Given the description of an element on the screen output the (x, y) to click on. 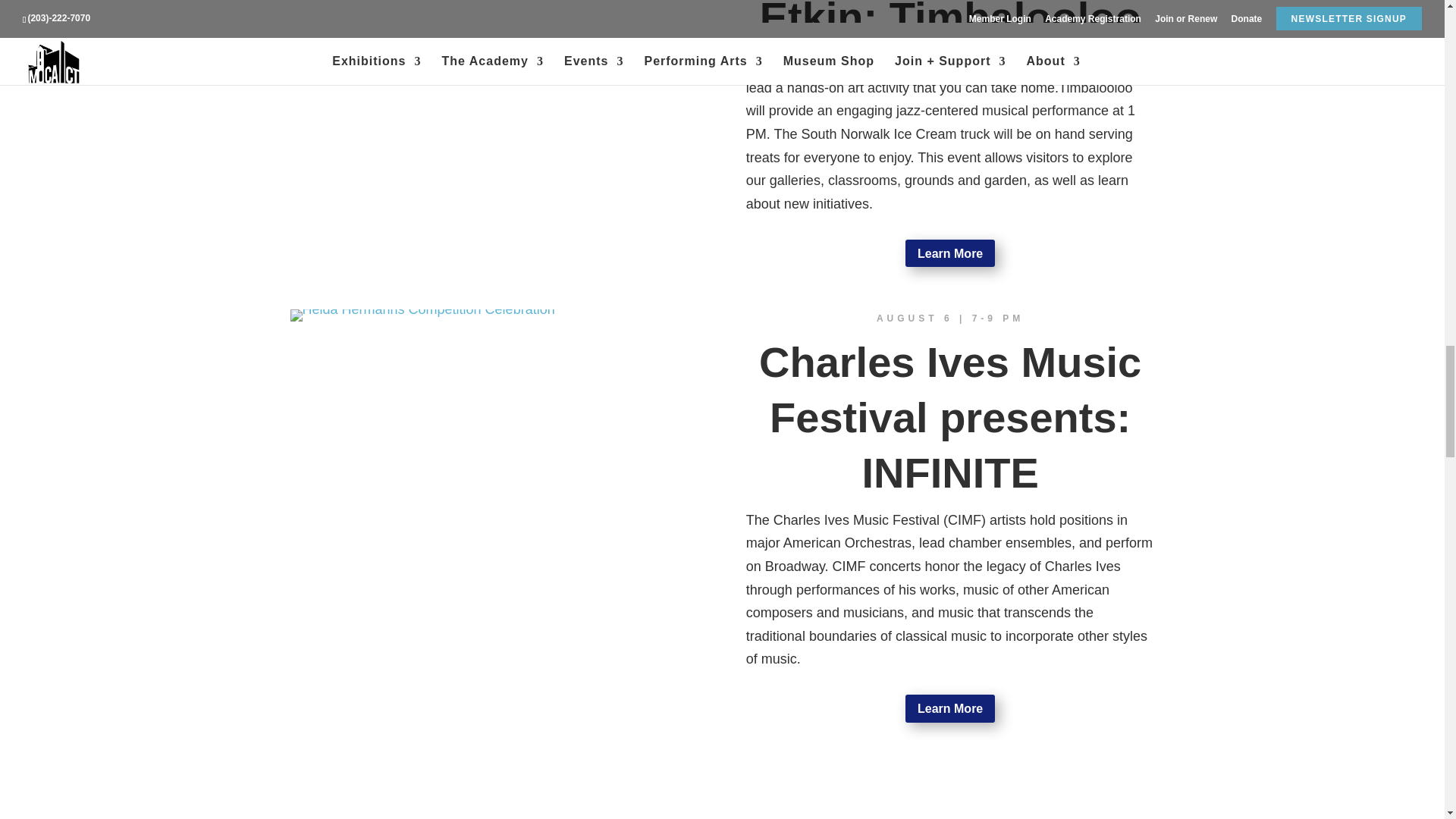
Charles Ives Music Festival 2023 (421, 315)
